Given the description of an element on the screen output the (x, y) to click on. 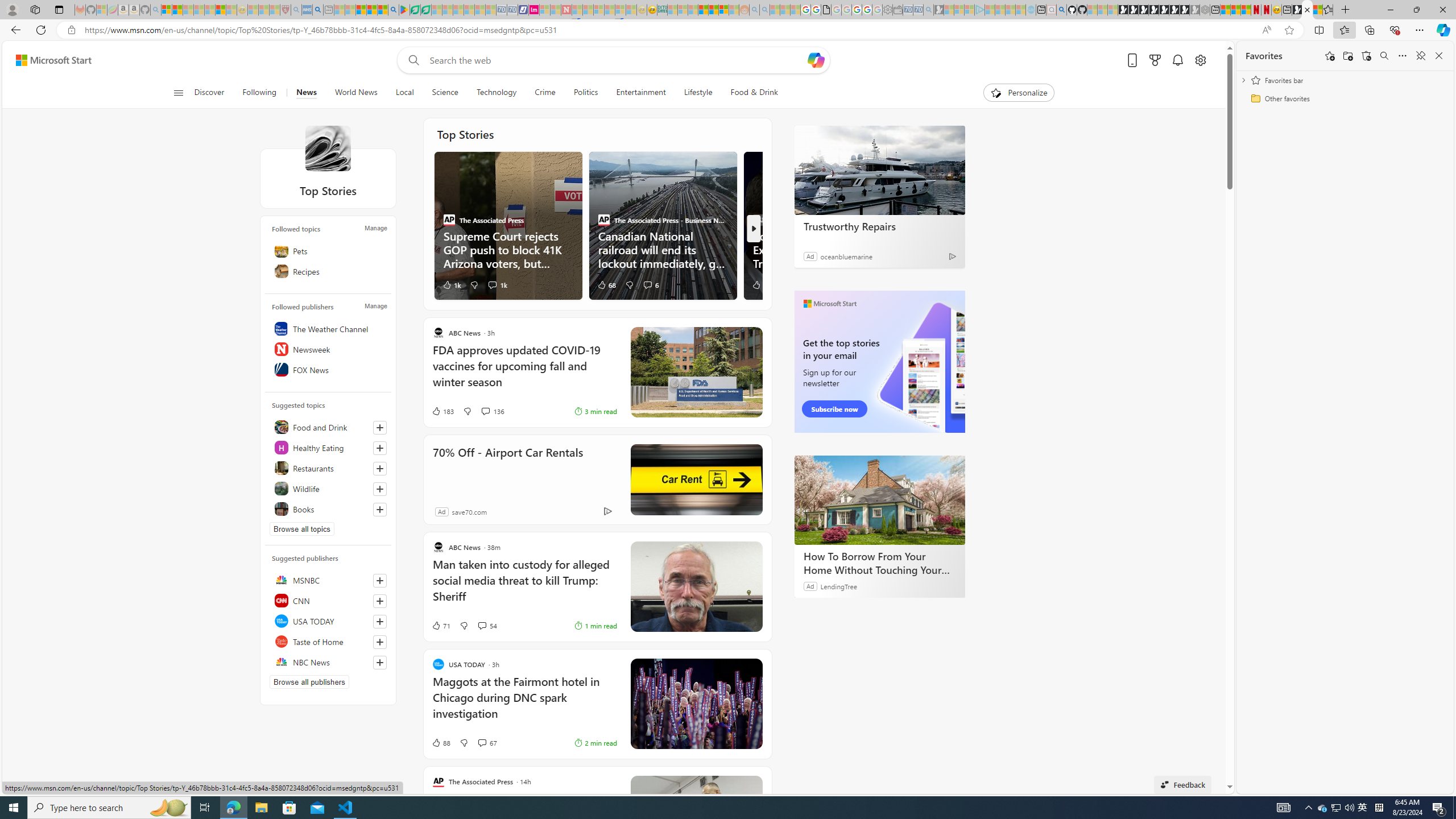
Pets (327, 250)
Browse all topics (301, 528)
